Given the description of an element on the screen output the (x, y) to click on. 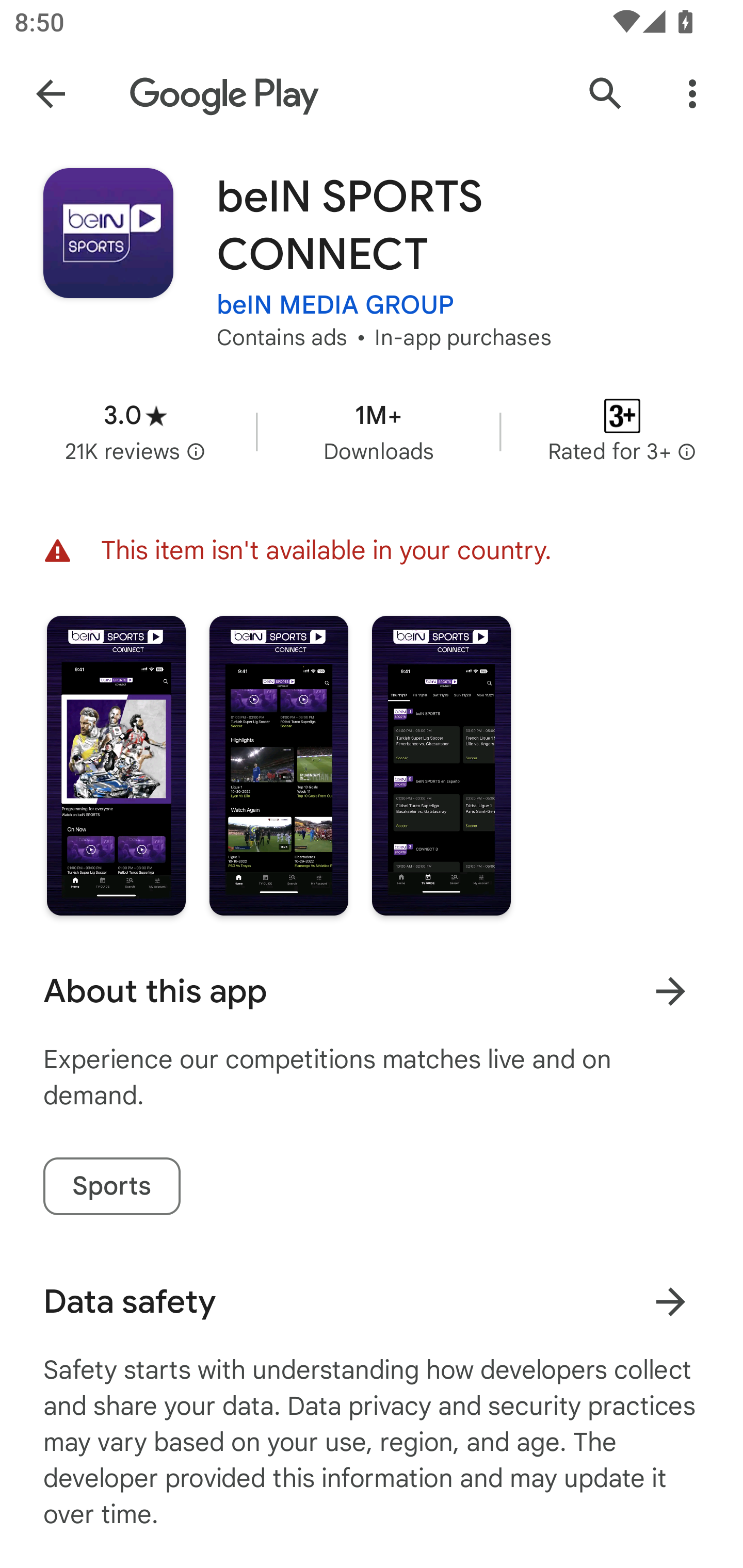
Navigate up (50, 93)
Search Google Play (605, 93)
More Options (692, 93)
beIN MEDIA GROUP (334, 304)
Average rating 3.0 stars in 21 thousand reviews (135, 431)
Content rating Rated for 3+ (622, 431)
Screenshot "1" of "3" (115, 765)
Screenshot "2" of "3" (278, 765)
Screenshot "3" of "3" (441, 765)
About this app Learn more About this app (371, 990)
Learn more About this app (670, 991)
Sports tag (111, 1186)
Data safety Learn more about data safety (371, 1301)
Learn more about data safety (670, 1302)
